Given the description of an element on the screen output the (x, y) to click on. 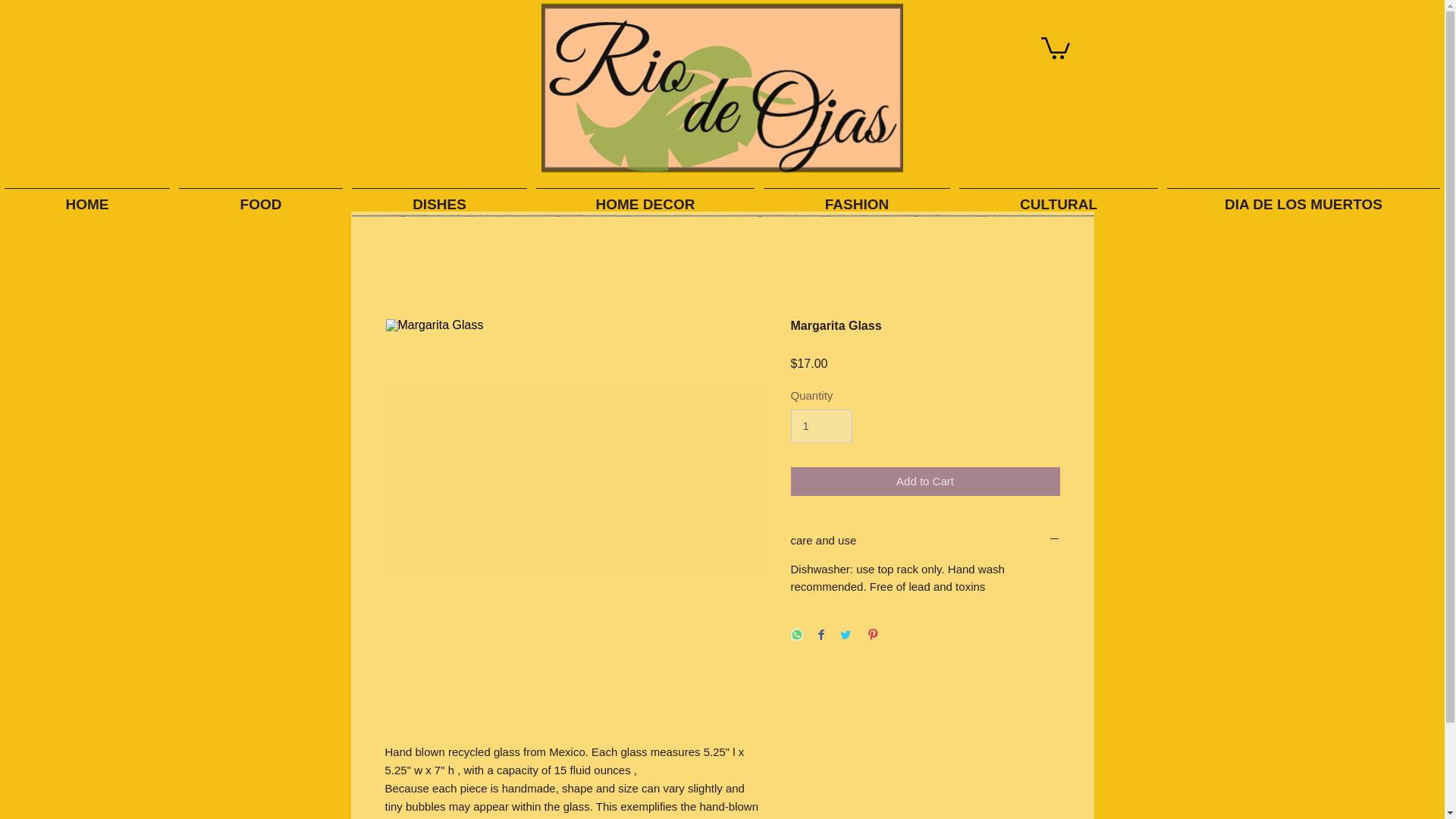
DISHES (439, 198)
care and use (924, 539)
FOOD (260, 198)
CULTURAL (1058, 198)
HOME DECOR (644, 198)
1 (820, 426)
Add to Cart (924, 481)
HOME (87, 198)
FASHION (856, 198)
